Given the description of an element on the screen output the (x, y) to click on. 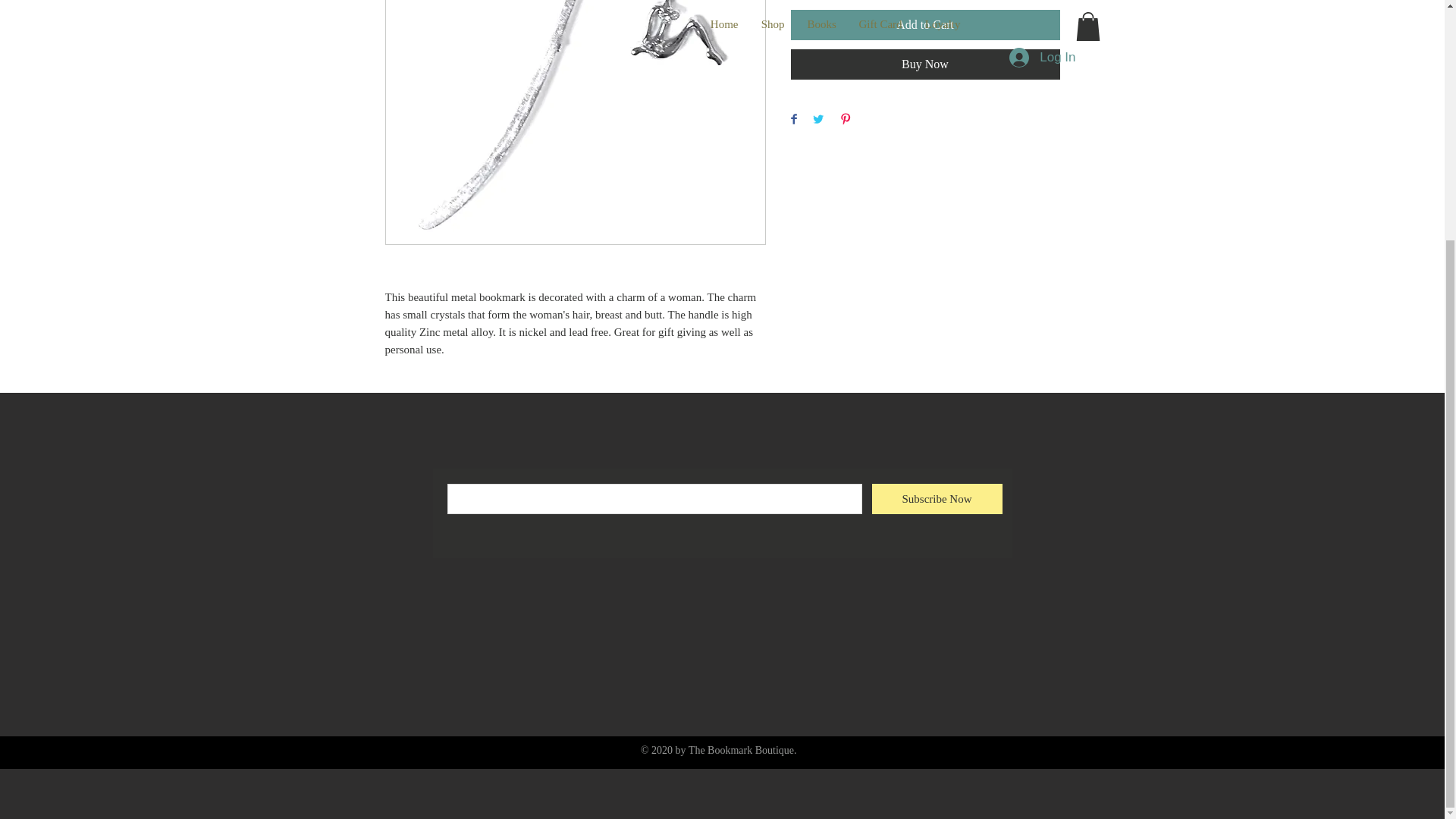
Buy Now (924, 64)
Subscribe Now (937, 499)
Add to Cart (924, 24)
